Given the description of an element on the screen output the (x, y) to click on. 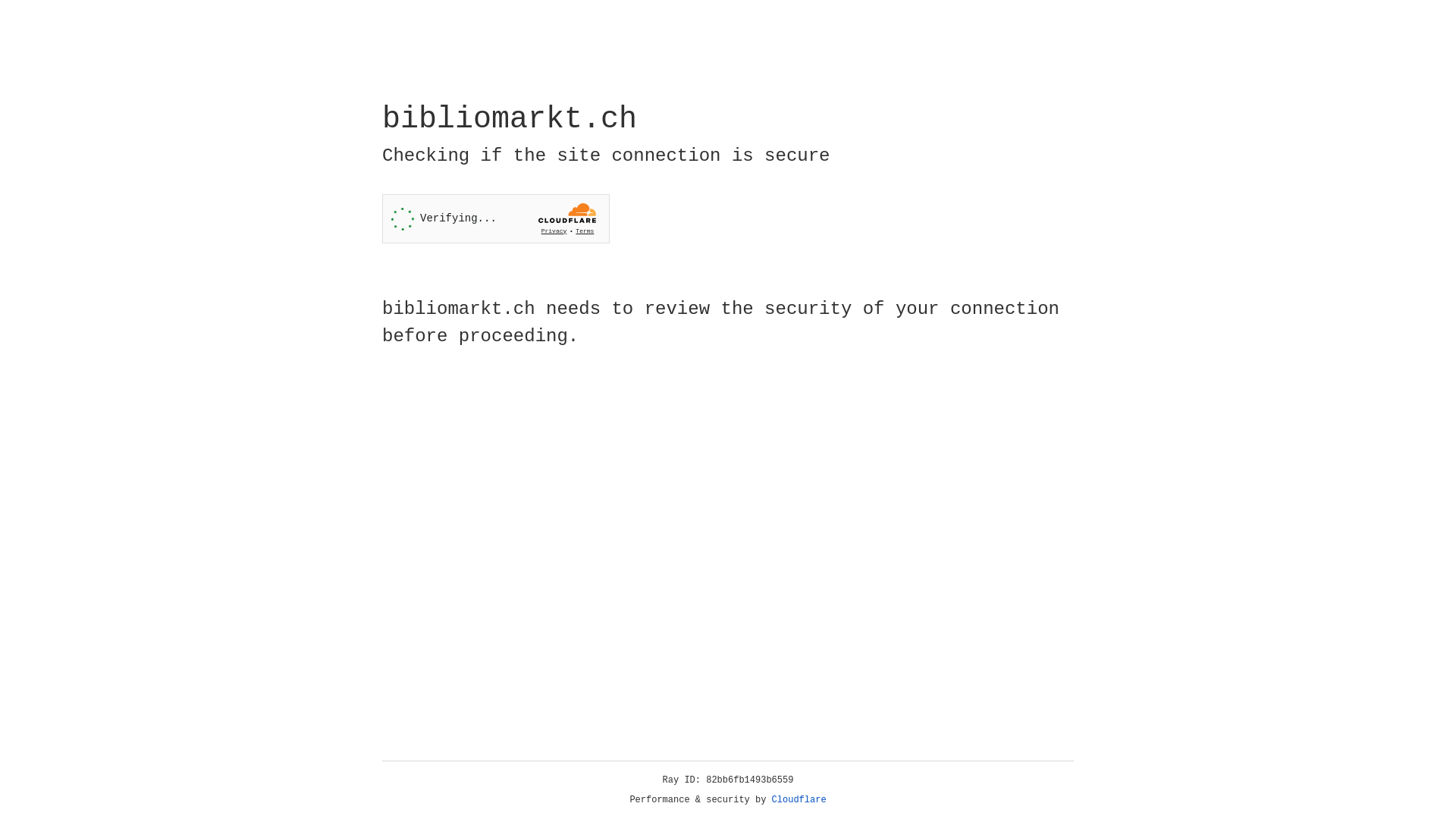
Widget containing a Cloudflare security challenge Element type: hover (495, 218)
Cloudflare Element type: text (798, 799)
